Given the description of an element on the screen output the (x, y) to click on. 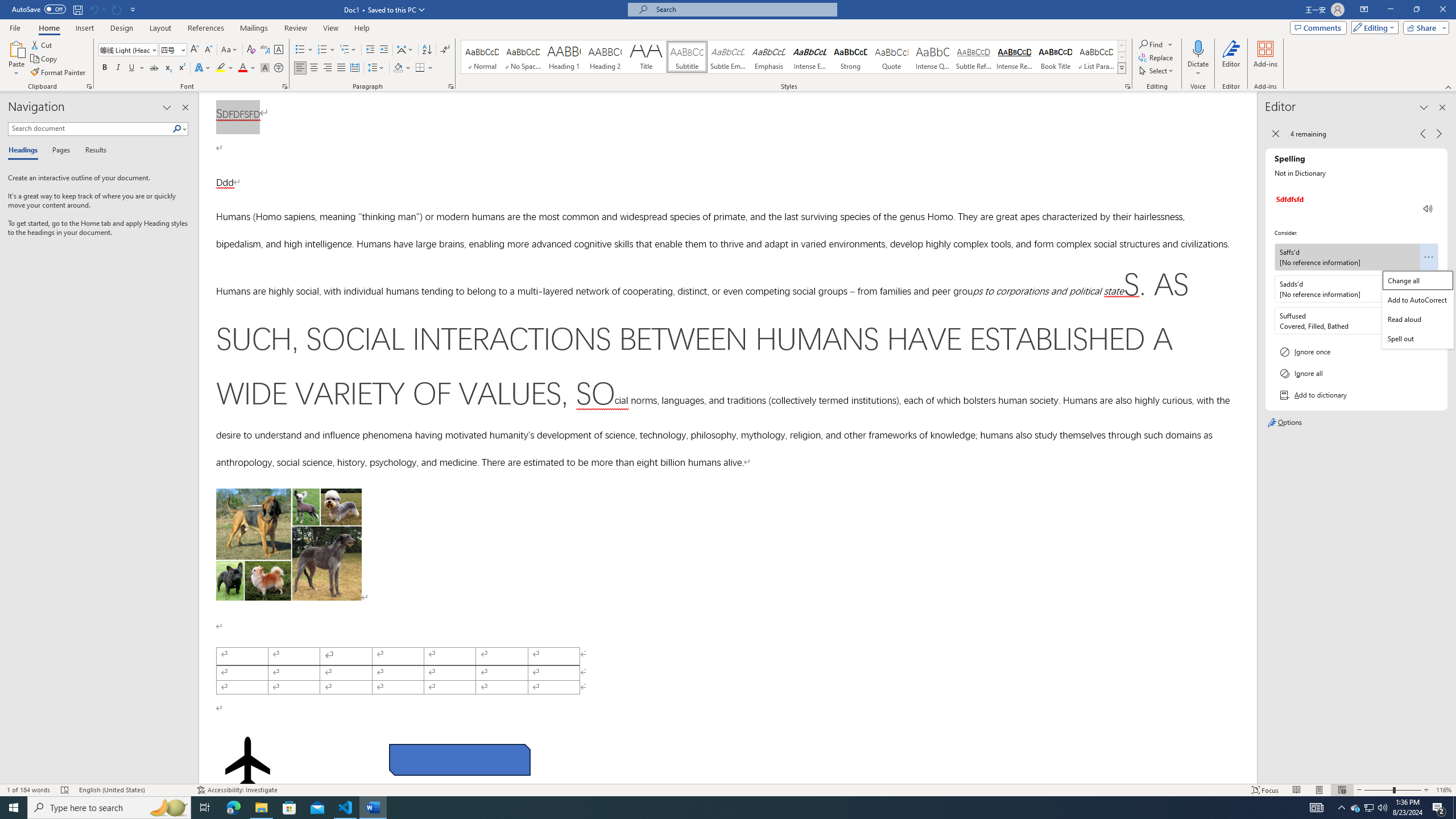
Class: Net UI Tool Window (1417, 309)
Change all (1418, 280)
Font Color Red (241, 67)
Quote (891, 56)
